Given the description of an element on the screen output the (x, y) to click on. 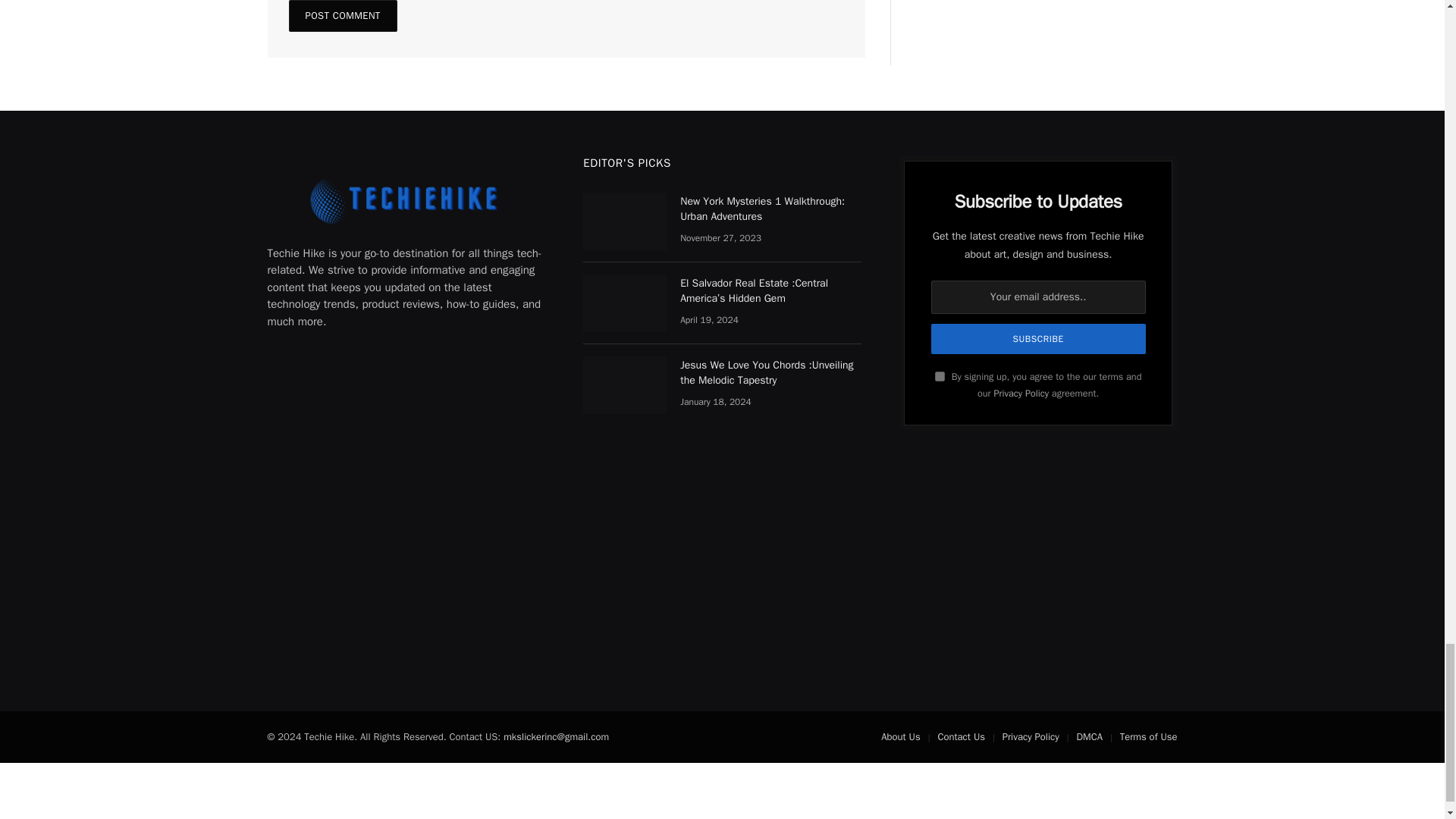
Post Comment (342, 15)
Post Comment (342, 15)
Subscribe (1038, 338)
on (939, 376)
